Given the description of an element on the screen output the (x, y) to click on. 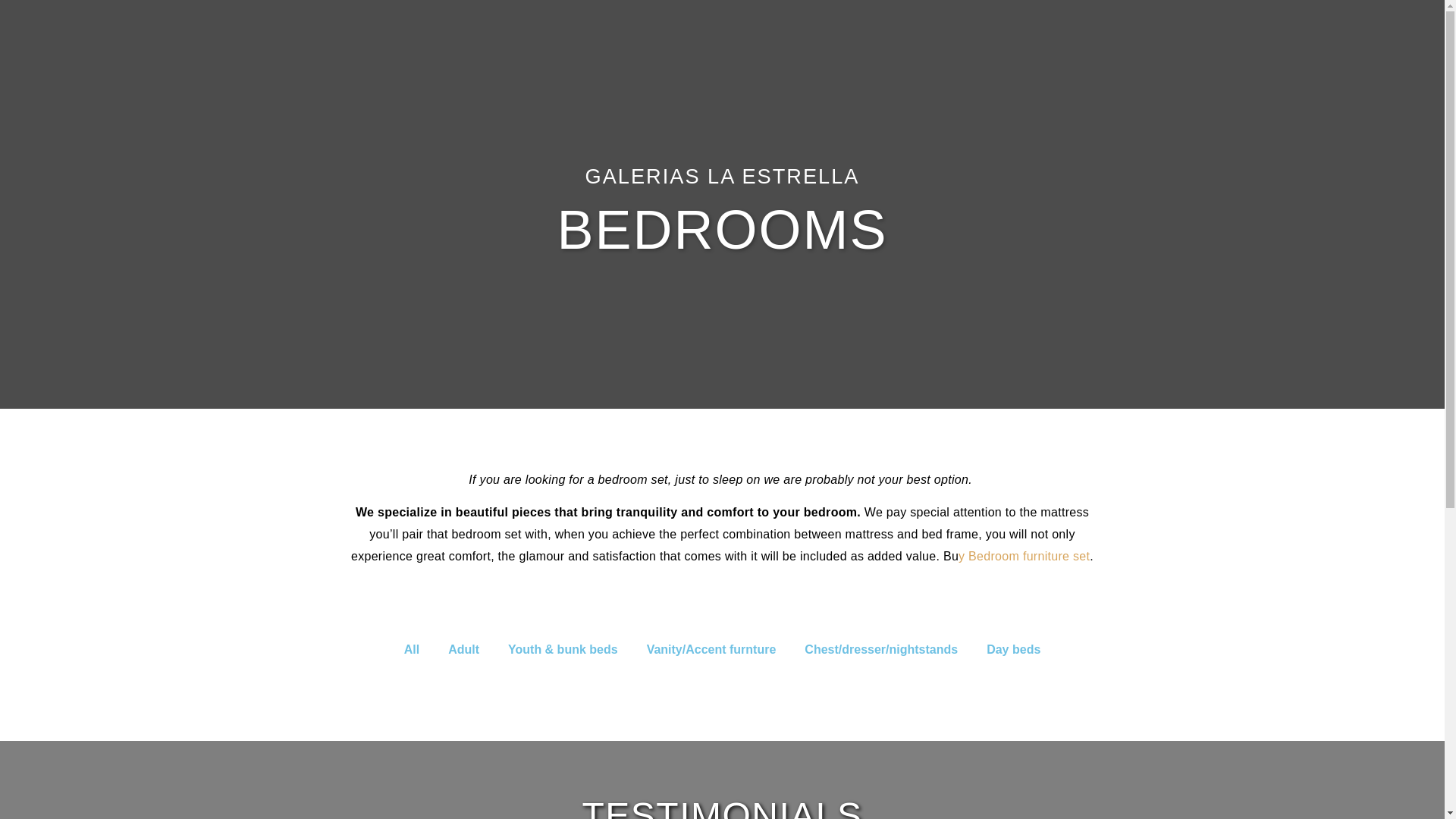
Day beds (1013, 649)
Adult (463, 649)
y Bedroom furniture set (1023, 555)
All (411, 649)
